Given the description of an element on the screen output the (x, y) to click on. 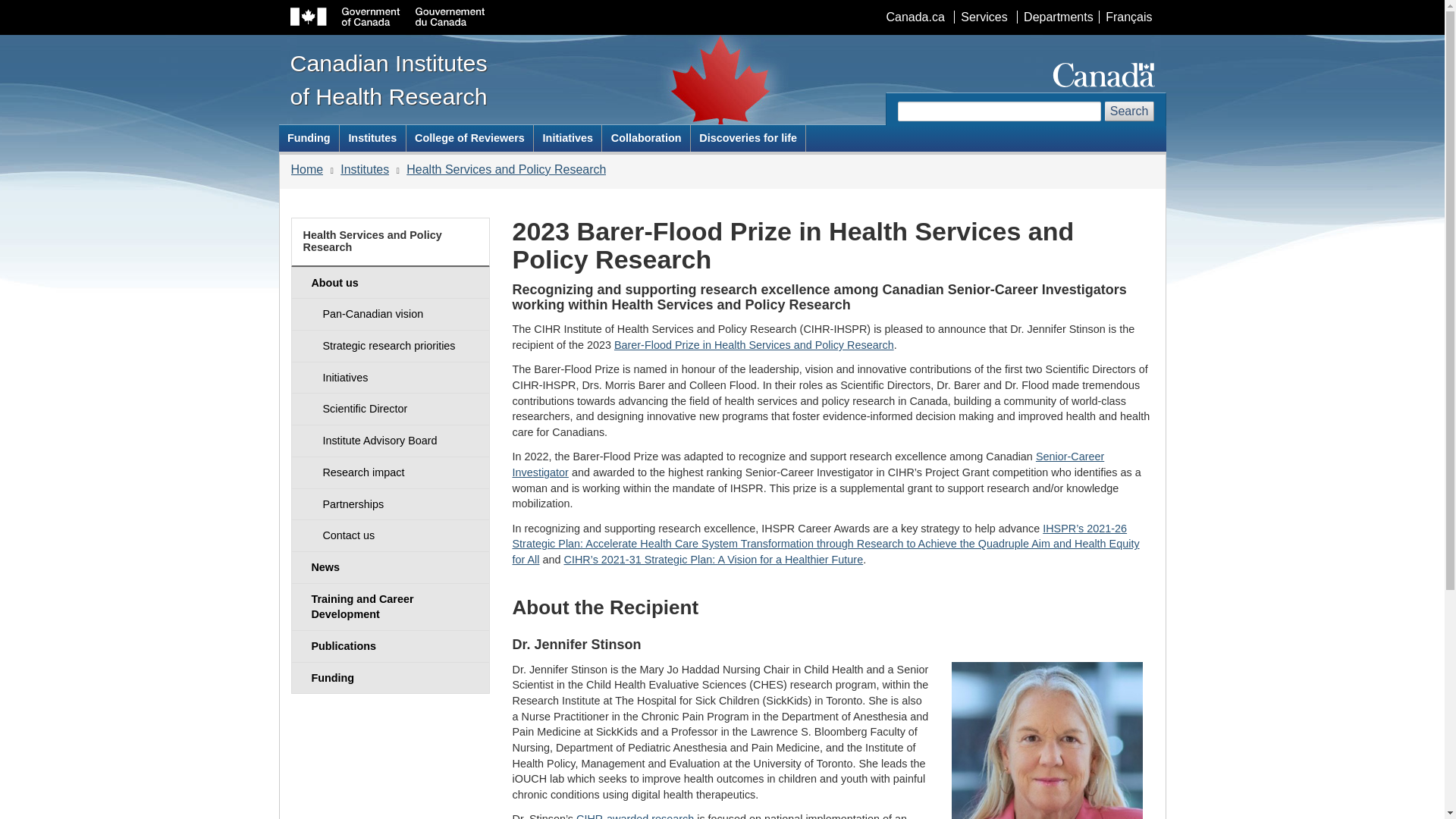
Training and Career Development (390, 606)
Health Services and Policy Research (505, 169)
Strategic research priorities (390, 346)
Initiatives (390, 377)
Senior-Career Investigator (808, 464)
Institutes (364, 169)
Canada.ca (914, 16)
Departments (1057, 16)
College of Reviewers (470, 138)
Collaboration (646, 138)
